Given the description of an element on the screen output the (x, y) to click on. 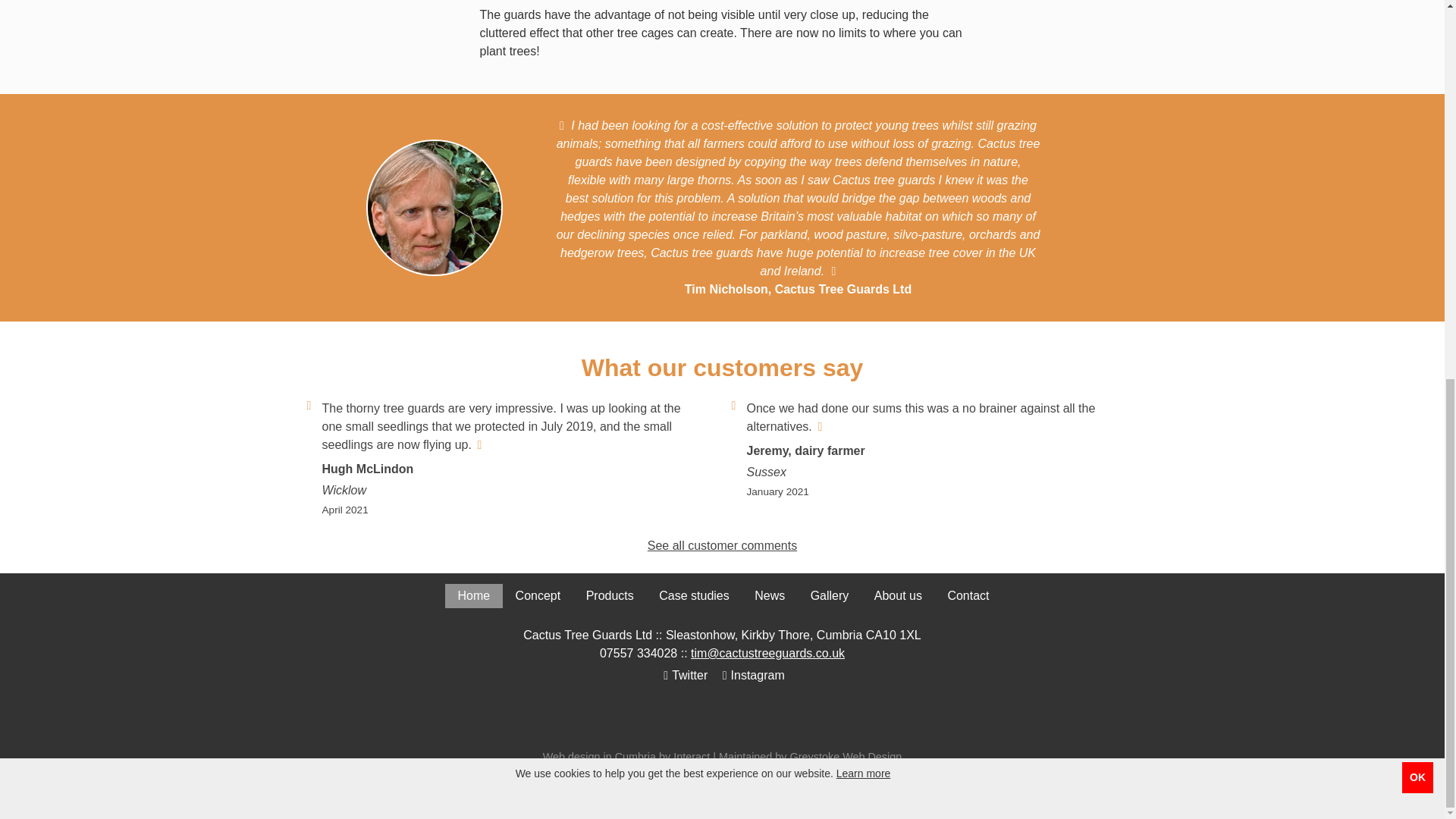
About us (897, 595)
News (769, 595)
Gallery (829, 595)
Follow on Instagram (751, 675)
Greystoke Web Design (846, 756)
Home (473, 595)
See all customer comments (721, 545)
Follow on Twitter (683, 675)
Contact (967, 595)
Twitter (683, 675)
Concept (538, 595)
Instagram (751, 675)
Products (609, 595)
Case studies (694, 595)
